Given the description of an element on the screen output the (x, y) to click on. 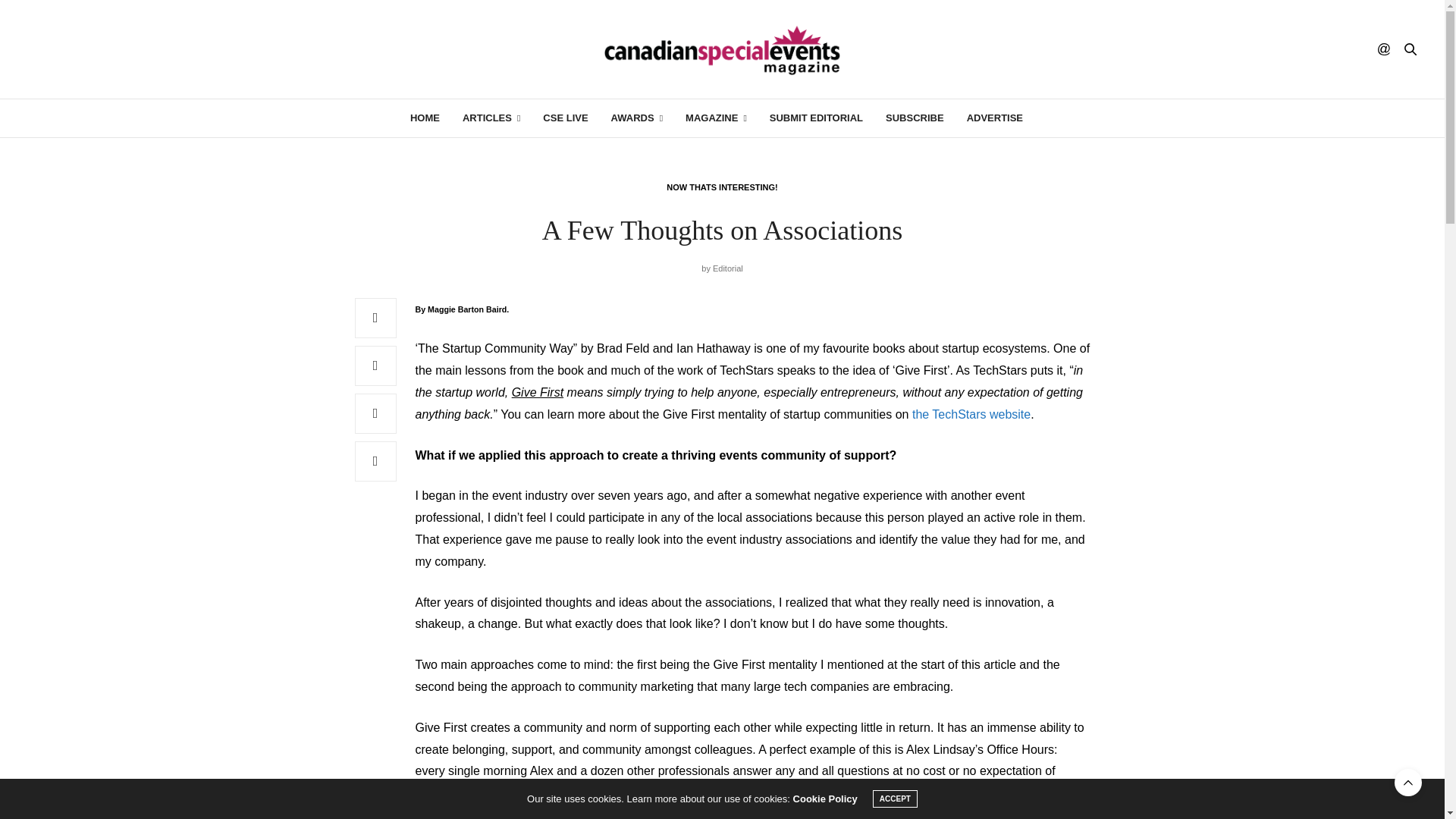
HOME (424, 118)
ARTICLES (491, 118)
Posts by Editorial (727, 267)
CanadianSpecialEvents.com (722, 49)
